Given the description of an element on the screen output the (x, y) to click on. 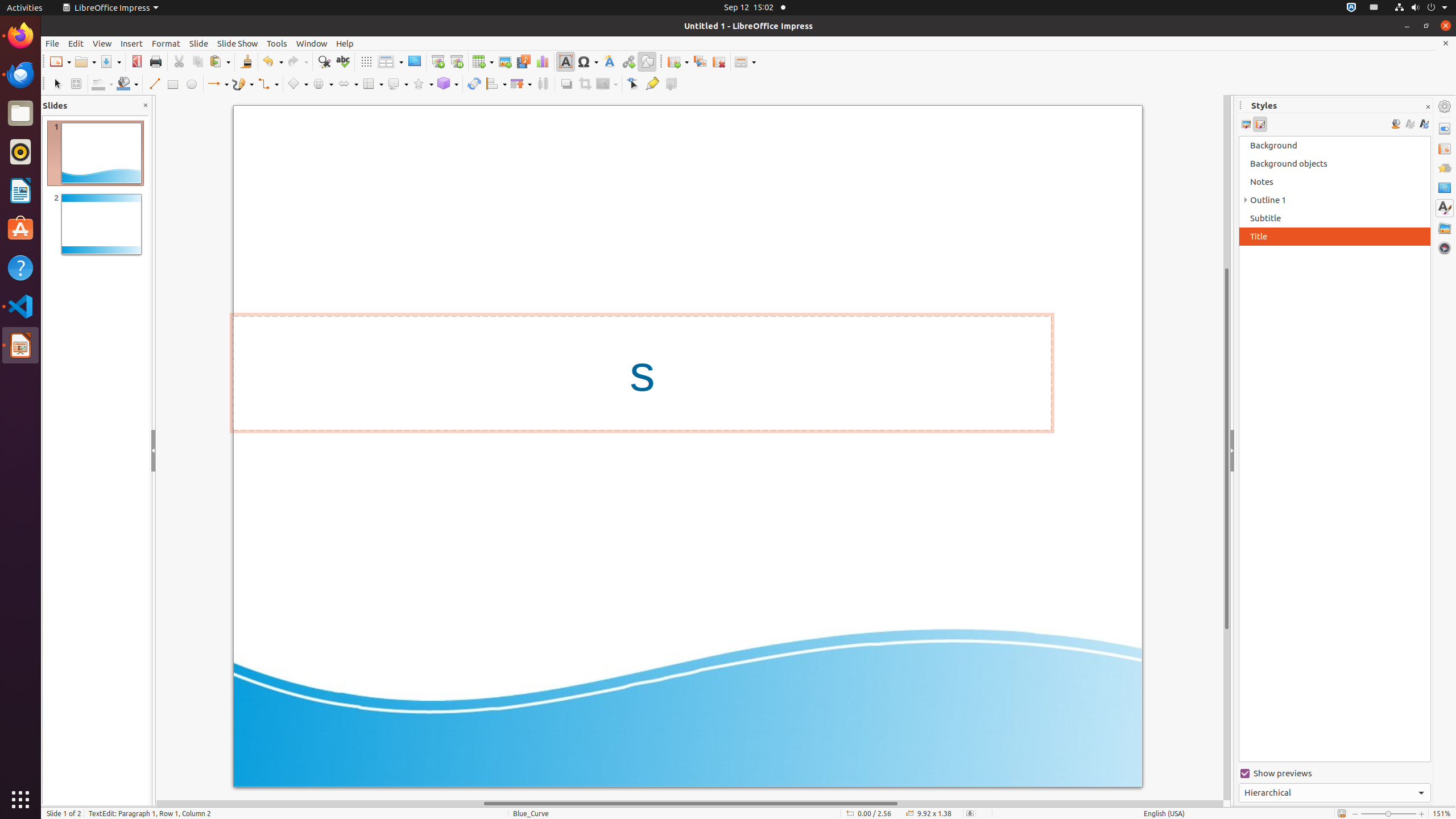
Clone Element type: push-button (245, 61)
Copy Element type: push-button (197, 61)
Undo Element type: push-button (271, 61)
Draw Functions Element type: toggle-button (646, 61)
Fill Color Element type: push-button (126, 83)
